Given the description of an element on the screen output the (x, y) to click on. 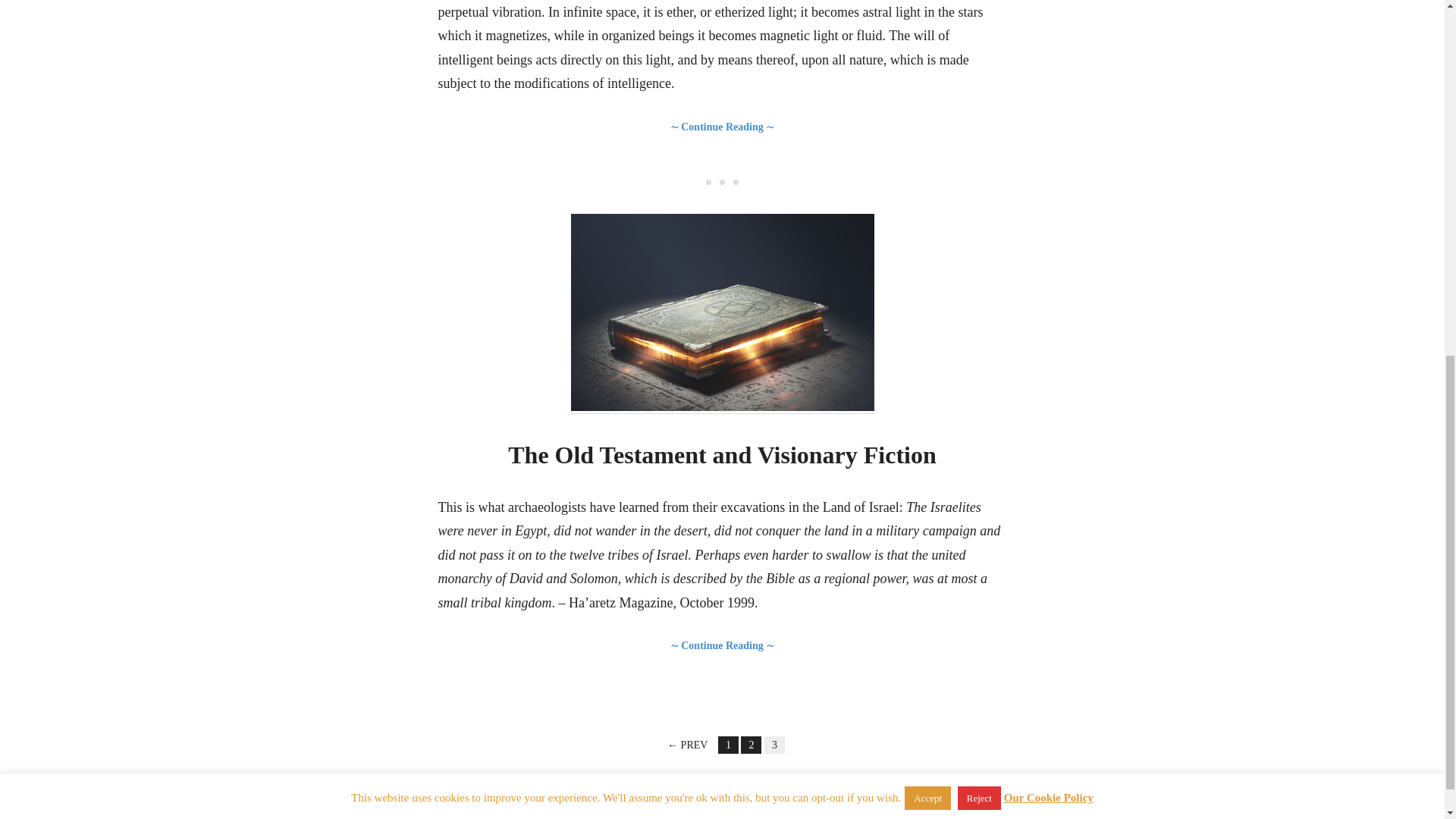
The Old Testament and Visionary Fiction (722, 454)
Accept (927, 148)
Our Cookie Policy (1048, 148)
2 (751, 744)
1 (727, 744)
Reject (979, 148)
